Given the description of an element on the screen output the (x, y) to click on. 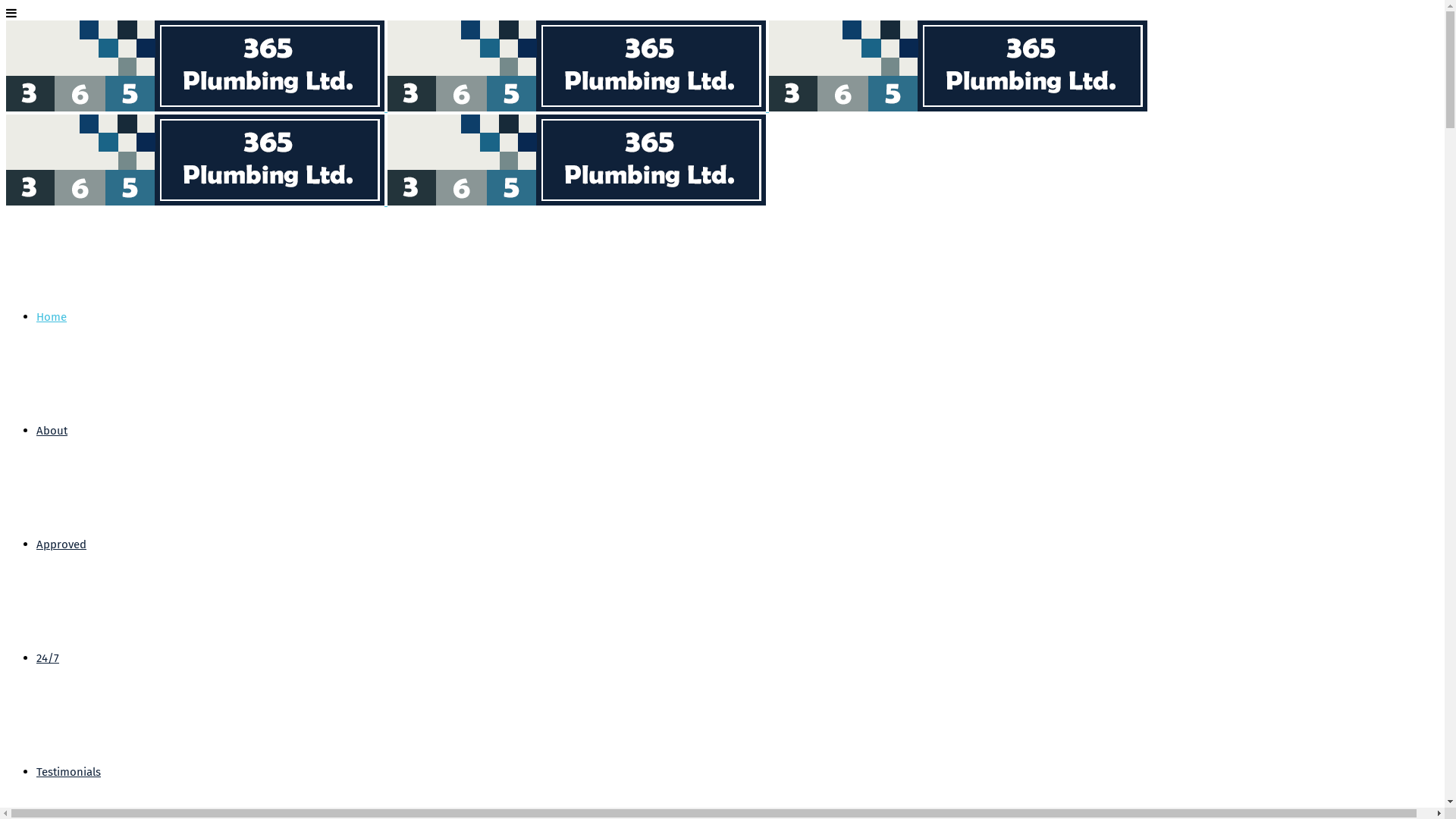
24/7 Element type: text (47, 658)
Approved Element type: text (61, 544)
Testimonials Element type: text (68, 771)
Home Element type: text (51, 316)
About Element type: text (51, 430)
